Given the description of an element on the screen output the (x, y) to click on. 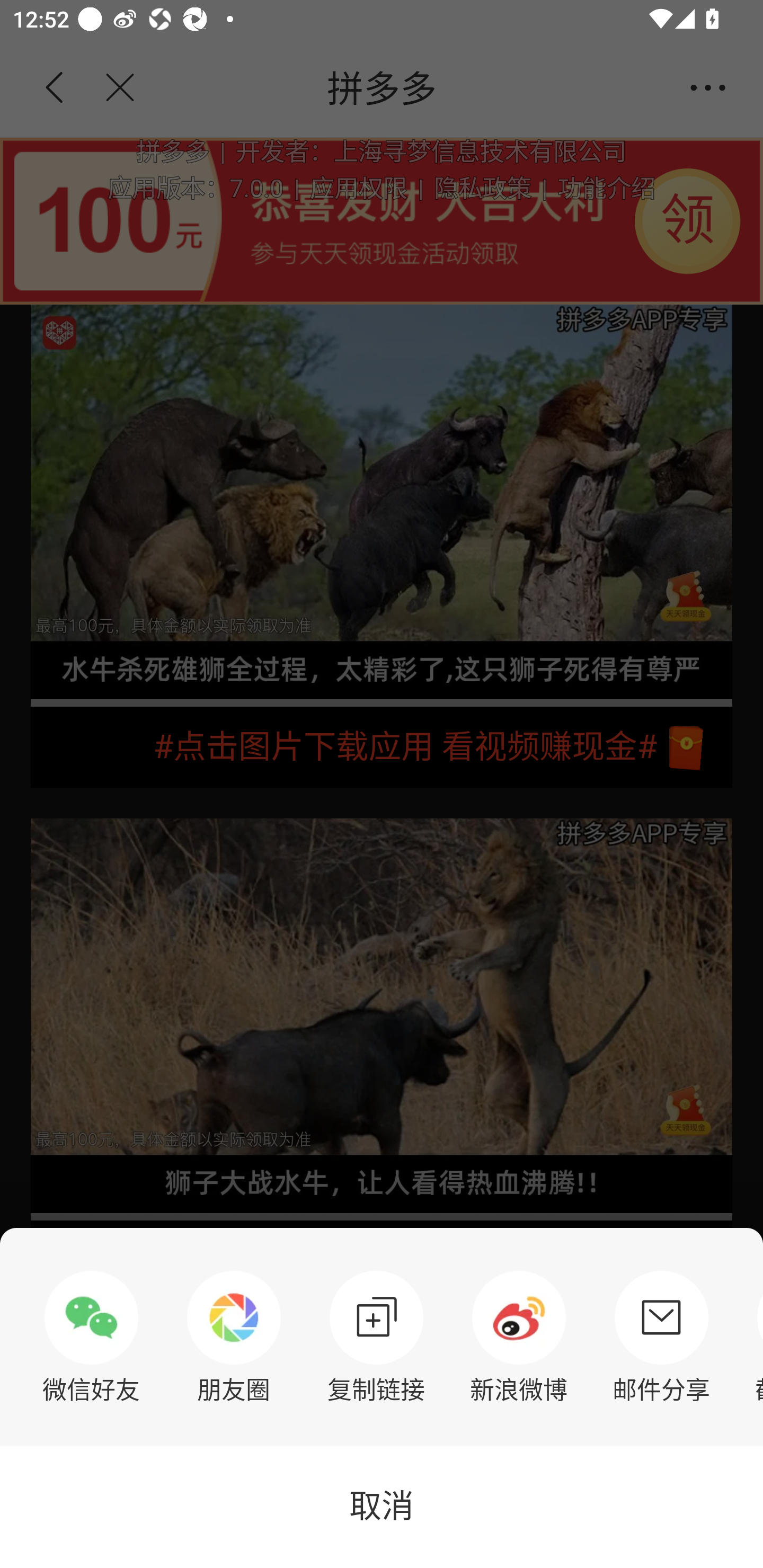
微信好友 (90, 1337)
朋友圈 (233, 1337)
 复制链接 复制链接 (376, 1337)
新浪微博 (518, 1337)
 邮件分享 邮件分享 (661, 1337)
取消 (381, 1506)
